Given the description of an element on the screen output the (x, y) to click on. 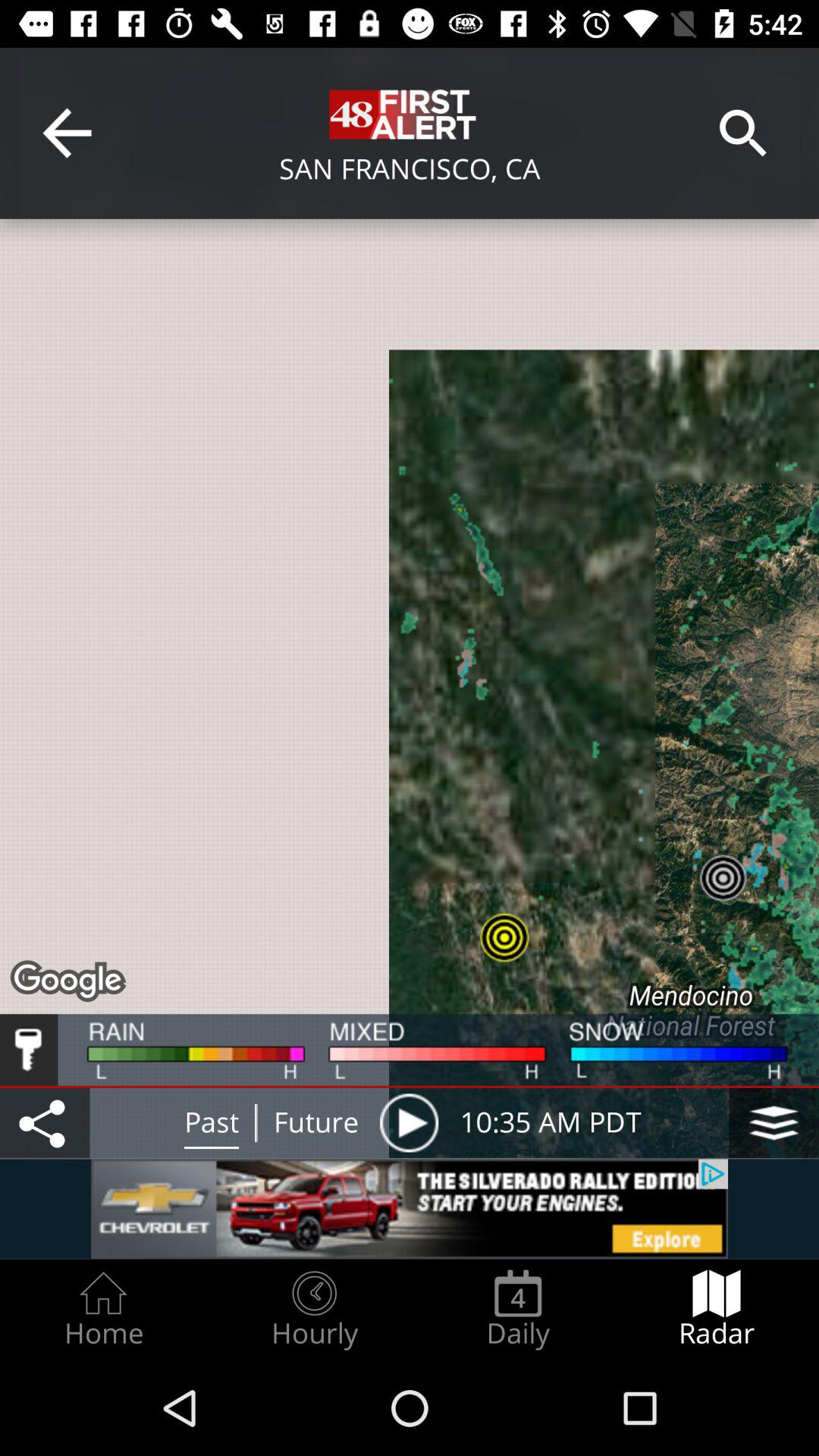
play (409, 1122)
